Given the description of an element on the screen output the (x, y) to click on. 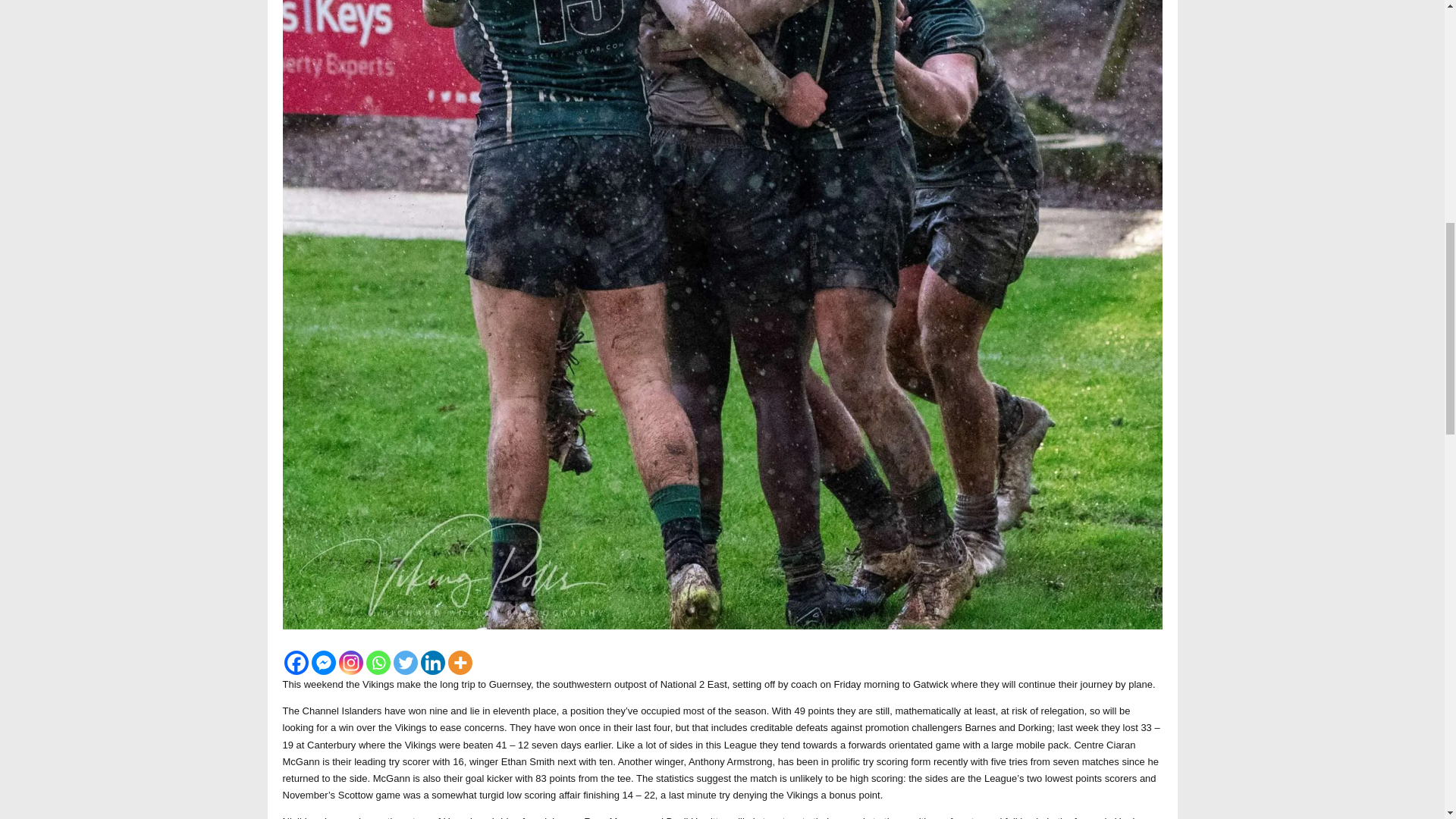
Instagram (349, 662)
Facebook (295, 662)
Whatsapp (377, 662)
More (458, 662)
Linkedin (432, 662)
Twitter (404, 662)
